Given the description of an element on the screen output the (x, y) to click on. 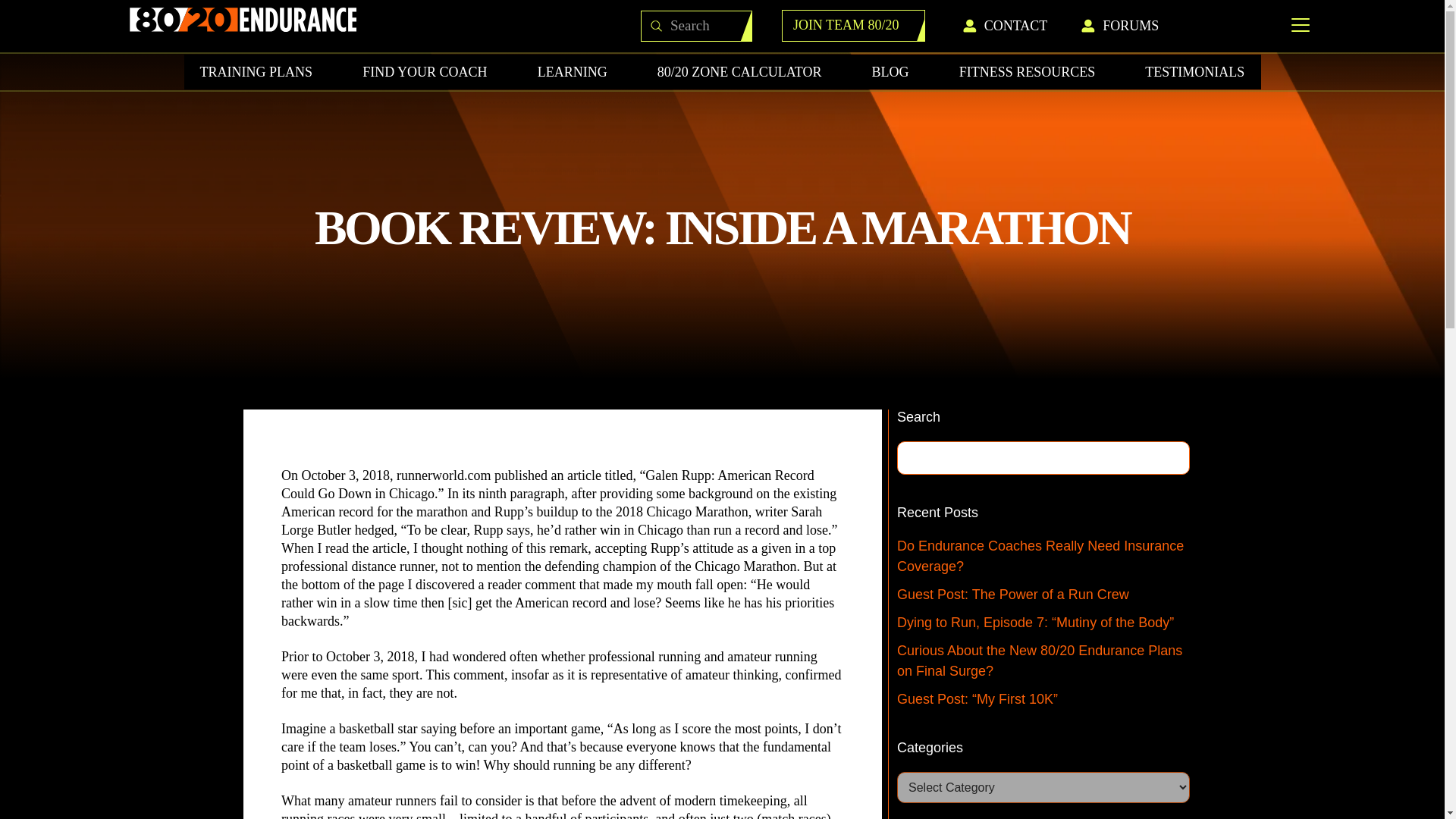
FITNESS RESOURCES (1027, 71)
TRAINING PLANS (256, 71)
FORUMS (1133, 26)
FIND YOUR COACH (425, 71)
BLOG (890, 71)
CONTACT (1019, 26)
TESTIMONIALS (1194, 71)
Group 2 (242, 19)
Search (706, 25)
LEARNING (571, 71)
